Given the description of an element on the screen output the (x, y) to click on. 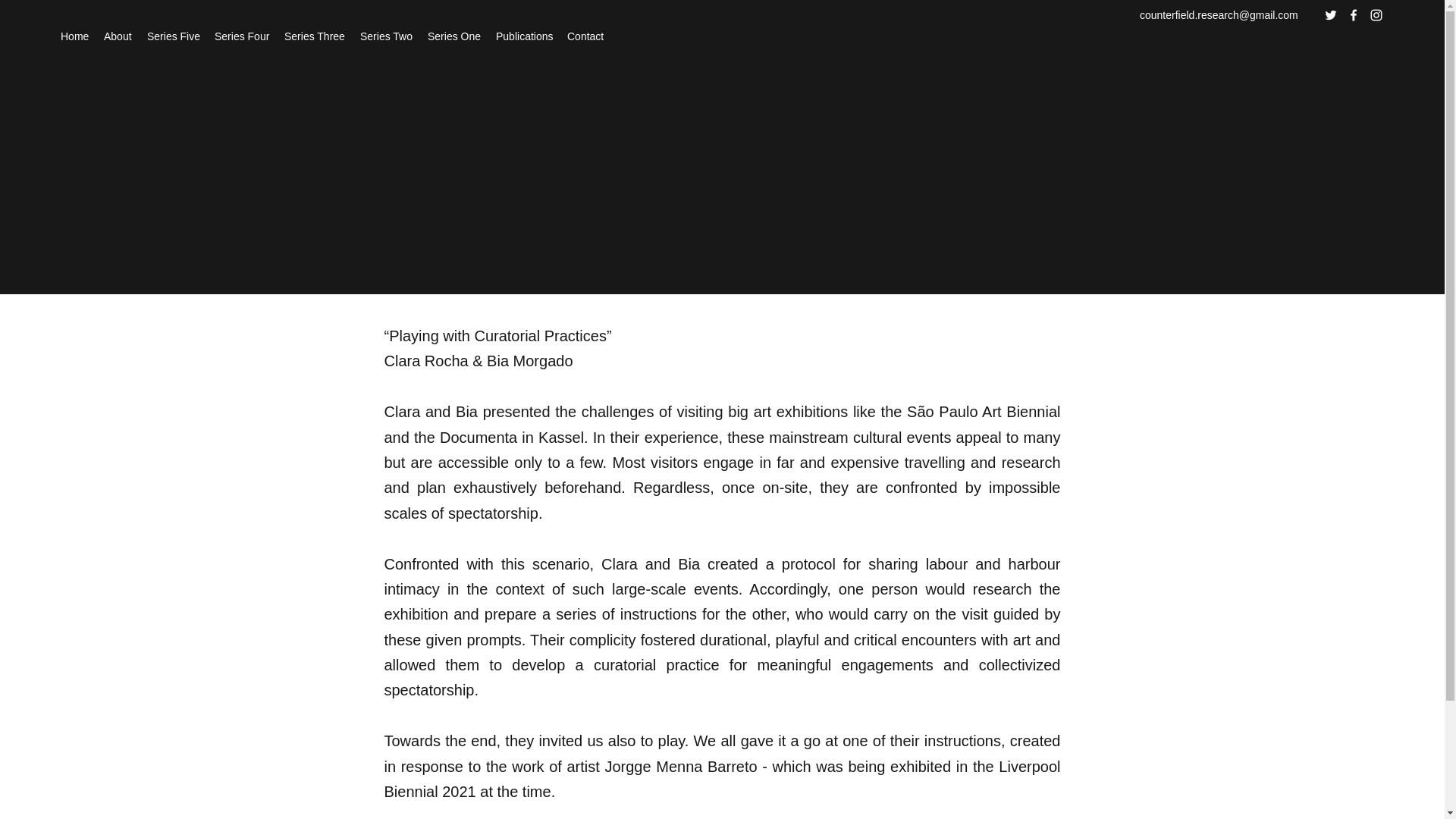
Series Five (172, 36)
Series Three (314, 36)
Series One (453, 36)
Series Two (386, 36)
Series Four (241, 36)
